Given the description of an element on the screen output the (x, y) to click on. 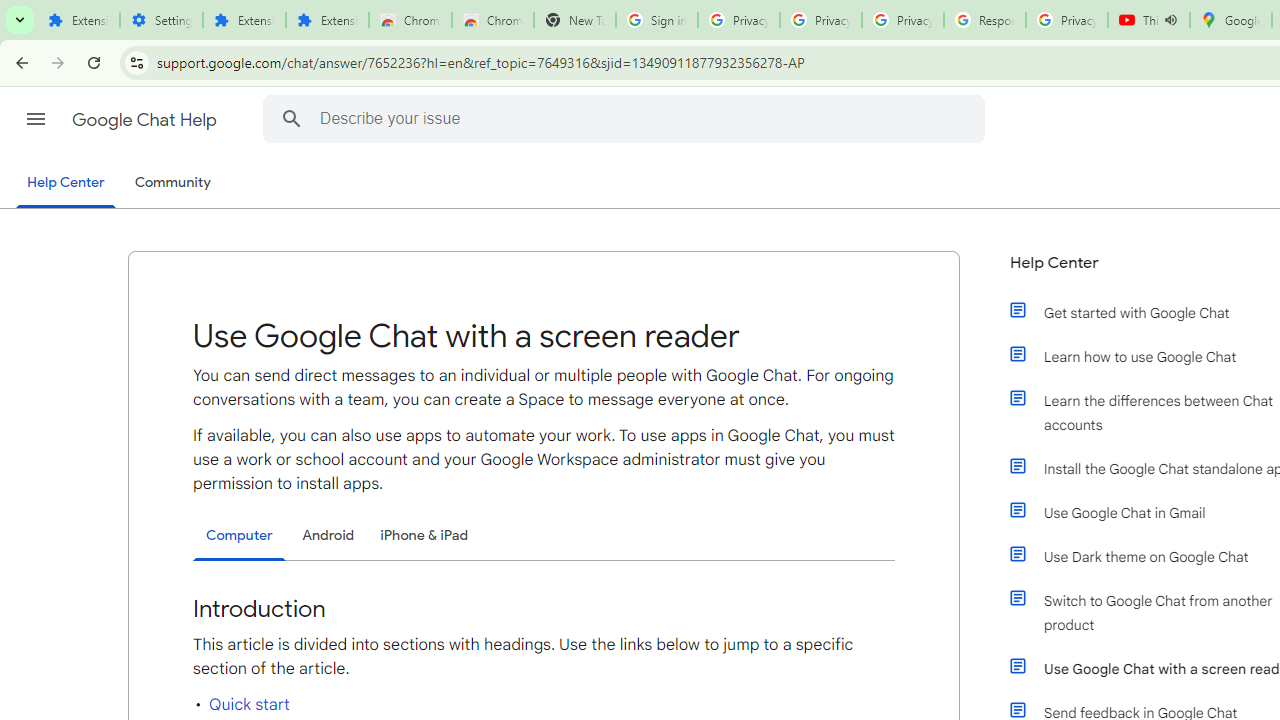
New Tab (574, 20)
iPhone & iPad (424, 534)
Help Center (65, 183)
Community (171, 183)
Main menu (35, 119)
Extensions (244, 20)
Quick start (249, 704)
Computer (239, 535)
